Given the description of an element on the screen output the (x, y) to click on. 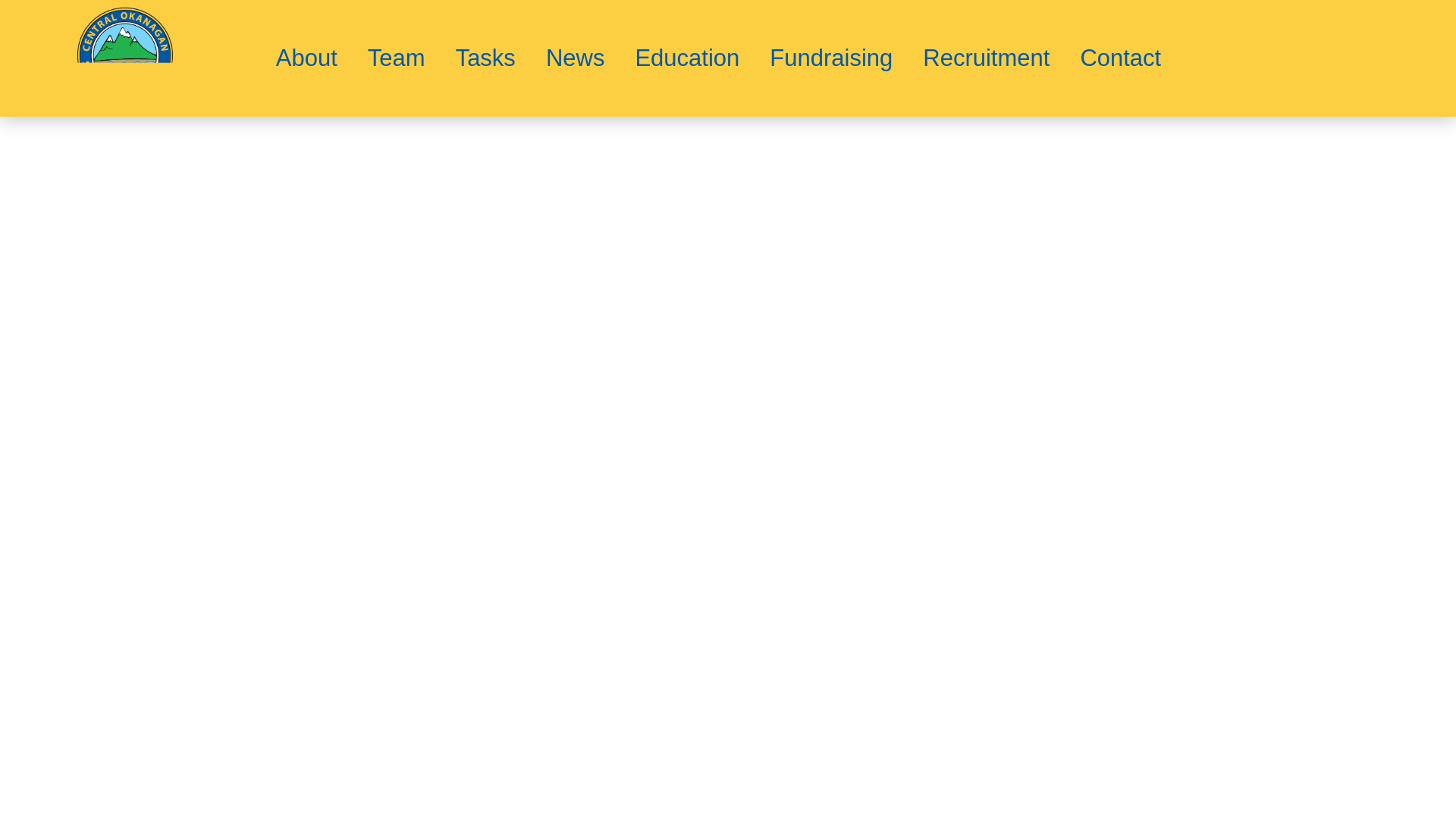
Recruitment (985, 58)
Team (396, 58)
Contact (1120, 58)
Education (687, 58)
Tasks (486, 58)
About (306, 58)
News (575, 58)
Fundraising (830, 58)
